Given the description of an element on the screen output the (x, y) to click on. 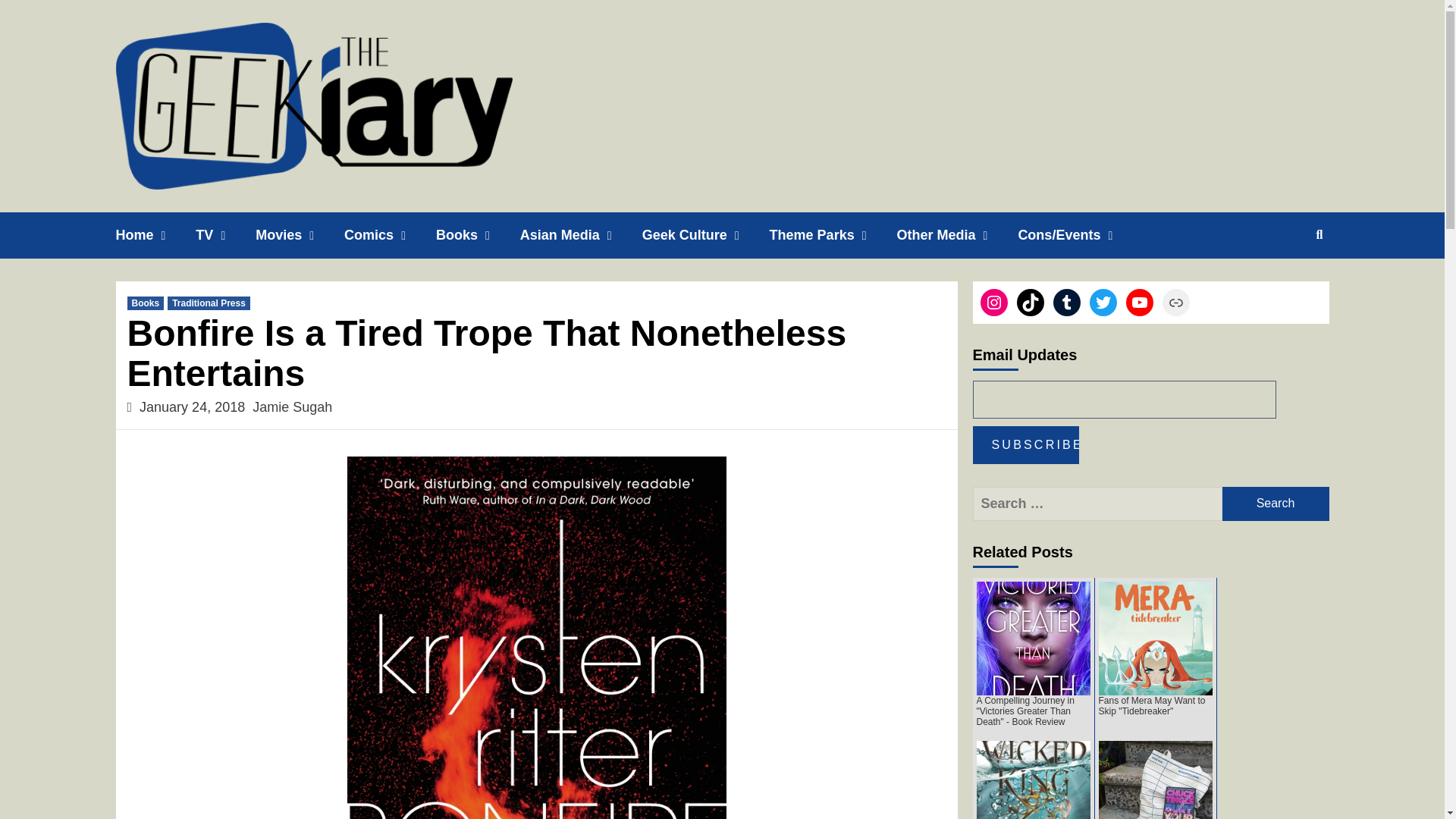
Comics (389, 235)
Search (1276, 503)
Subscribe (1025, 444)
Geek Culture (706, 235)
Search (1276, 503)
Home (155, 235)
Books (477, 235)
Movies (299, 235)
TV (225, 235)
Asian Media (580, 235)
